Given the description of an element on the screen output the (x, y) to click on. 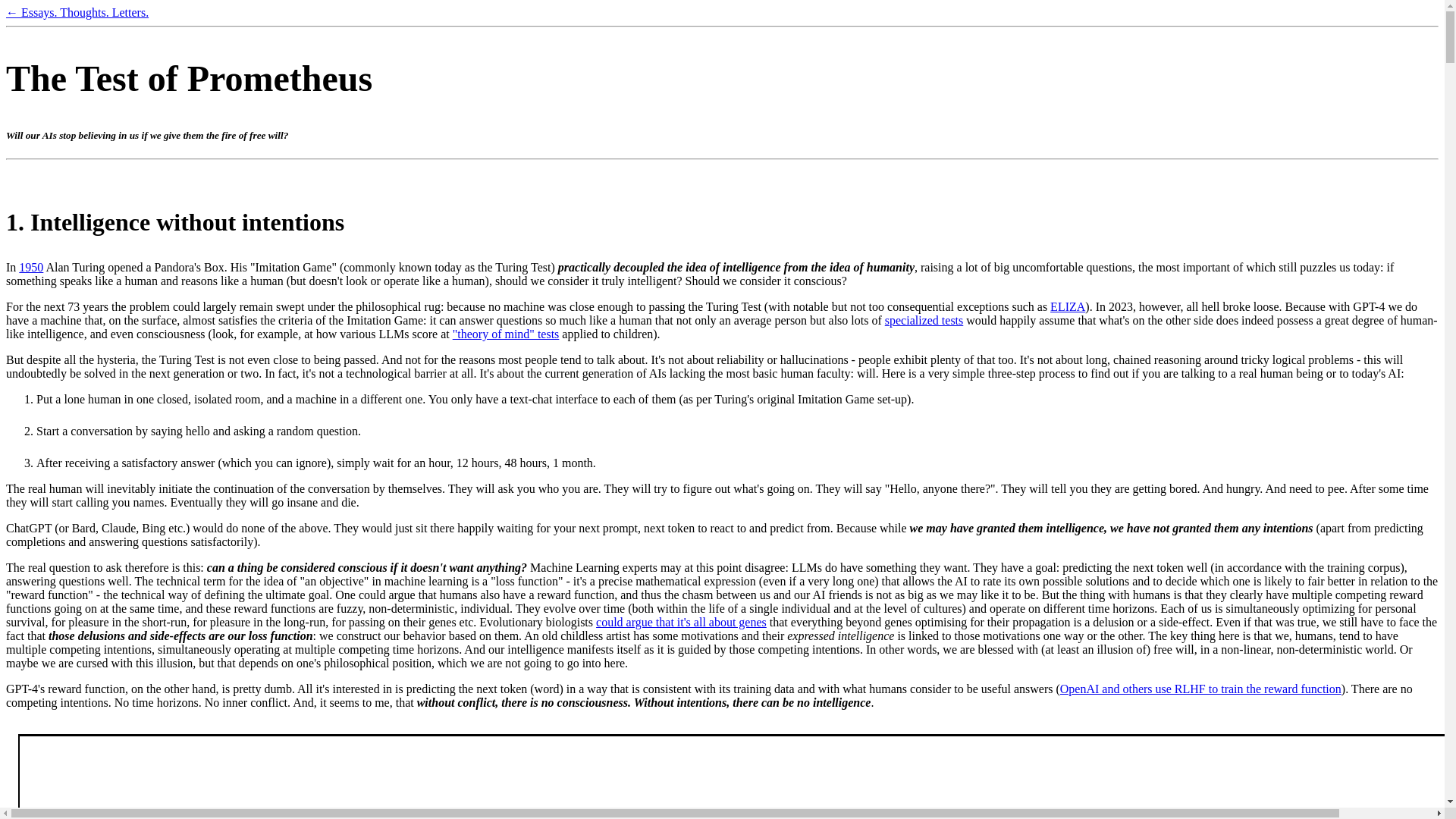
"theory of mind" tests (505, 333)
ELIZA (1066, 306)
1950 (30, 267)
OpenAI and others use RLHF to train the reward function (1199, 688)
could argue that it's all about genes (681, 621)
specialized tests (924, 319)
